Given the description of an element on the screen output the (x, y) to click on. 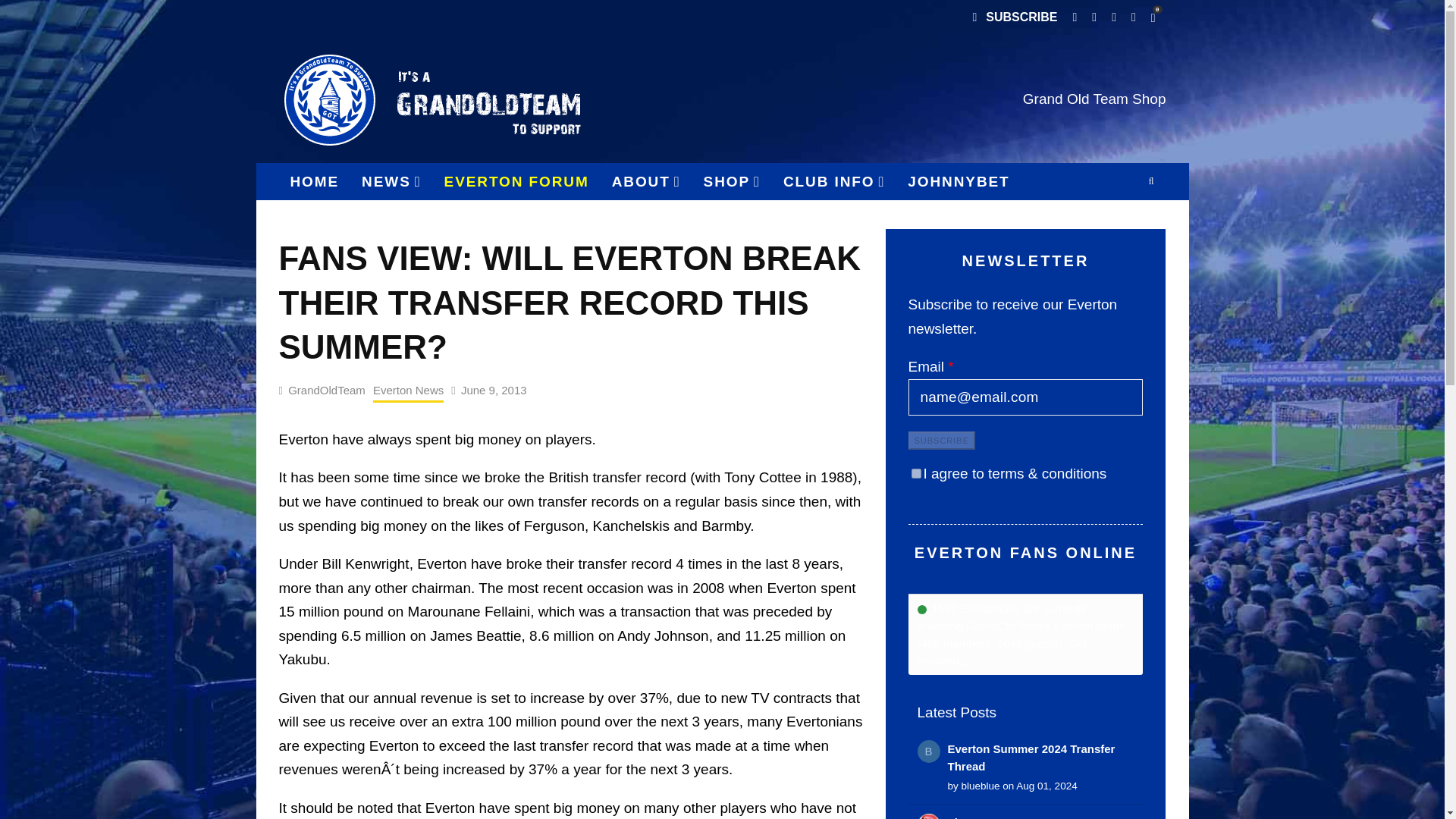
EVERTON FORUM (515, 181)
ABOUT (646, 181)
NEWS (391, 181)
SHOP (732, 181)
CLUB INFO (833, 181)
HOME (314, 181)
Grand Old Team Shop (1094, 98)
About (646, 181)
SUBSCRIBE (1013, 18)
on (916, 473)
